Given the description of an element on the screen output the (x, y) to click on. 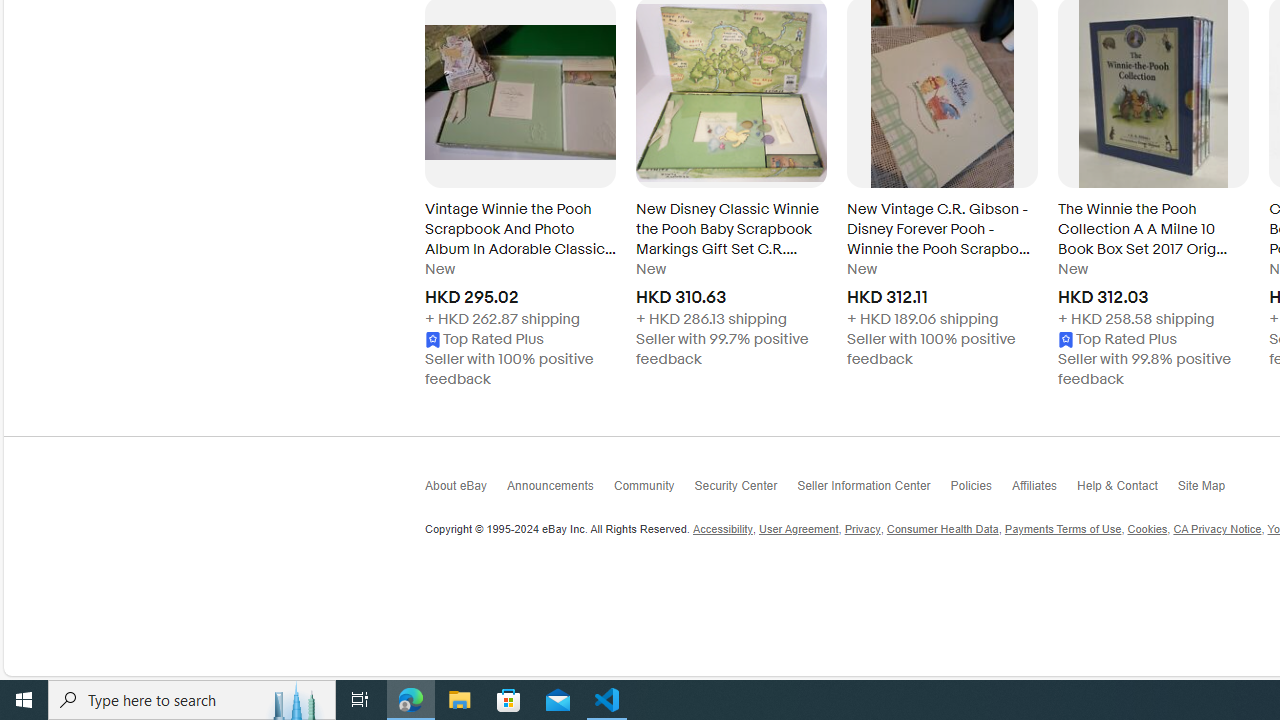
Policies (980, 490)
Help & Contact (1126, 491)
Seller Information Center (874, 491)
Accessibility (722, 529)
Go to the previous slide, Explore related items - Carousel (425, 196)
Security Center (745, 491)
Community (654, 490)
Affiliates (1044, 491)
CA Privacy Notice (1217, 529)
About eBay (466, 491)
User Agreement (798, 529)
Announcements (560, 491)
Consumer Health Data (941, 529)
About eBay (466, 490)
Help & Contact (1126, 490)
